Given the description of an element on the screen output the (x, y) to click on. 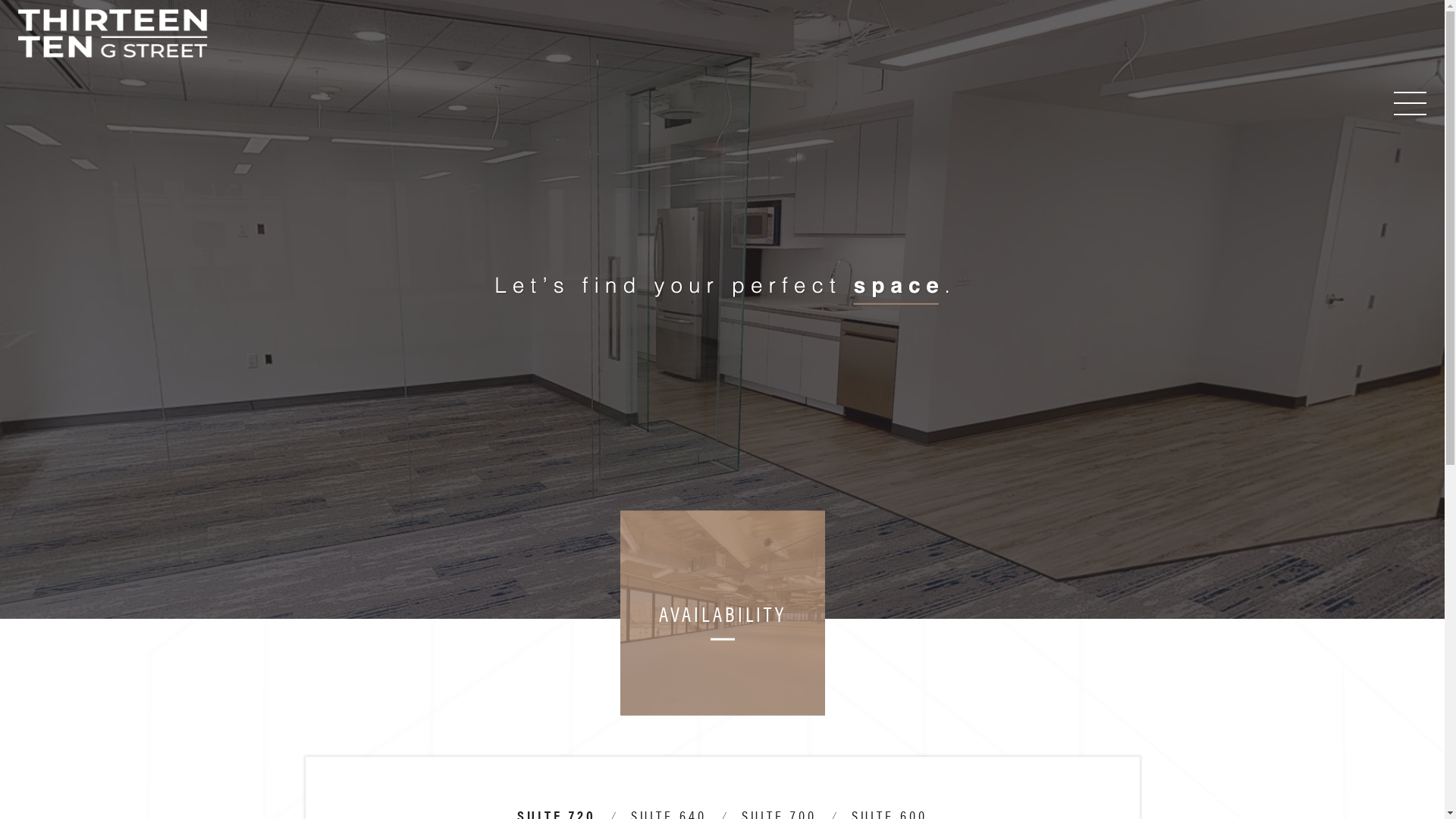
AVAILABILITY Element type: text (722, 613)
